Given the description of an element on the screen output the (x, y) to click on. 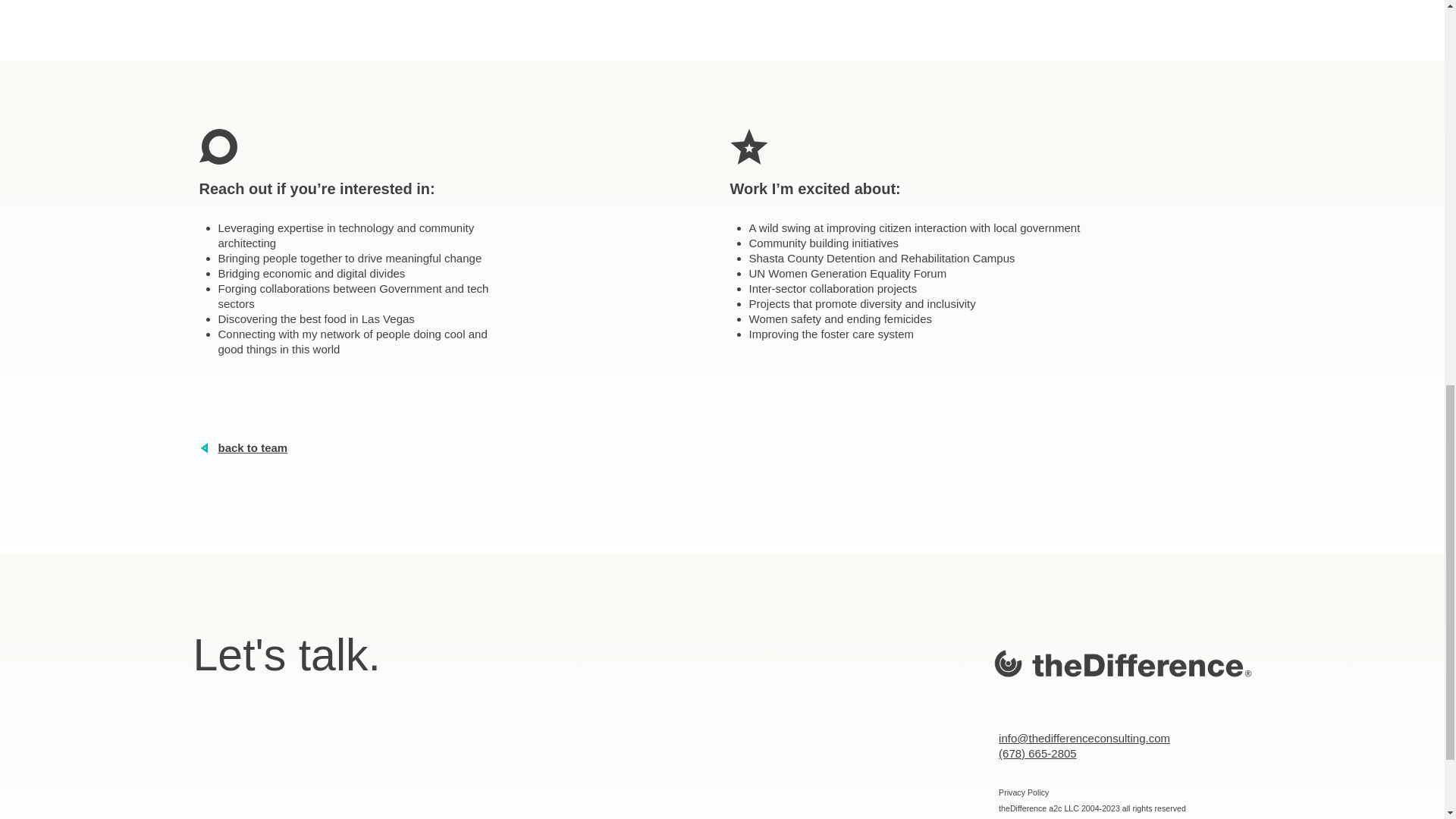
back to team (456, 447)
Privacy Policy (1023, 791)
